Given the description of an element on the screen output the (x, y) to click on. 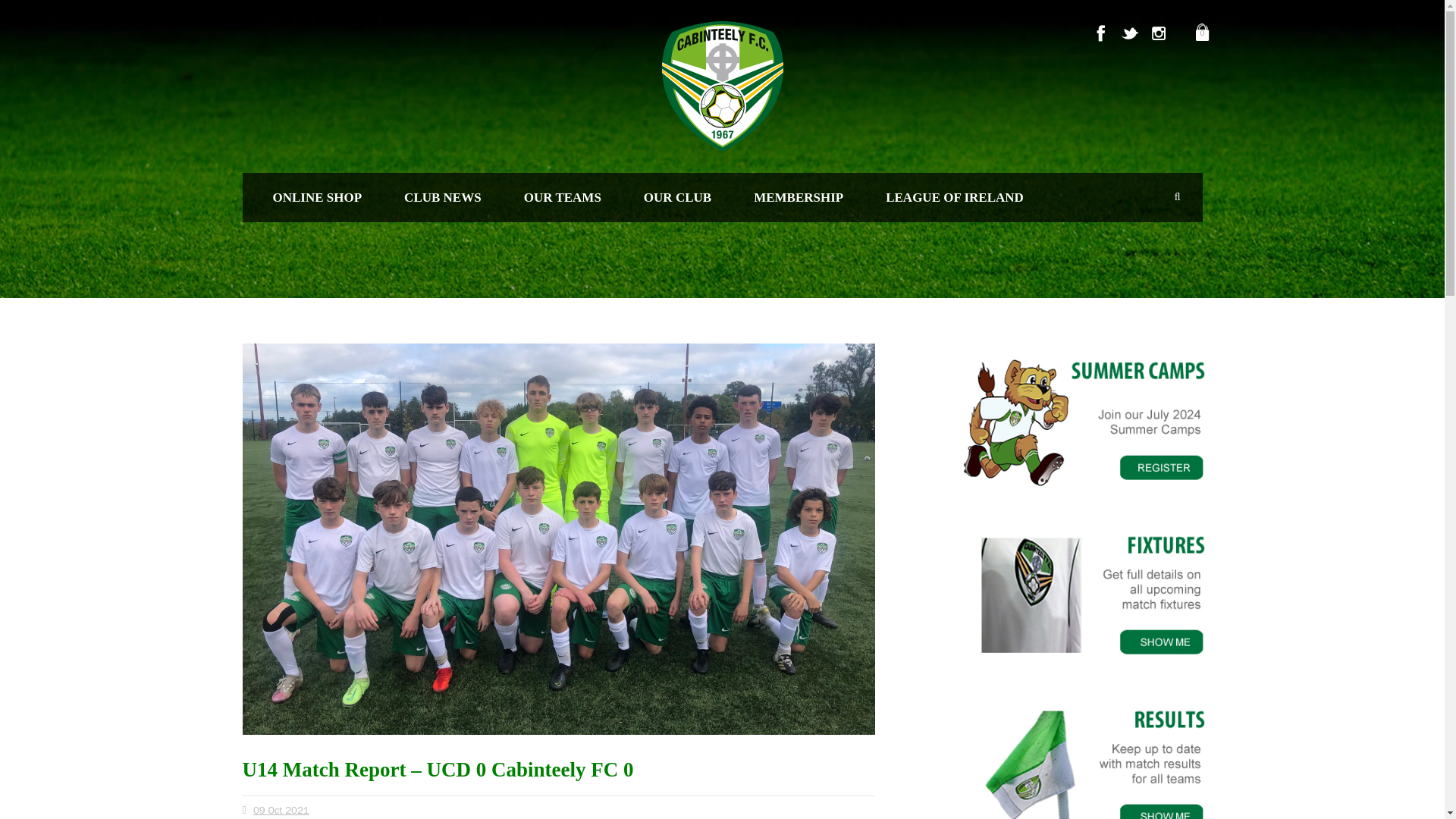
ONLINE SHOP (317, 197)
OUR CLUB (677, 197)
CLUB NEWS (442, 197)
OUR TEAMS (562, 197)
